Given the description of an element on the screen output the (x, y) to click on. 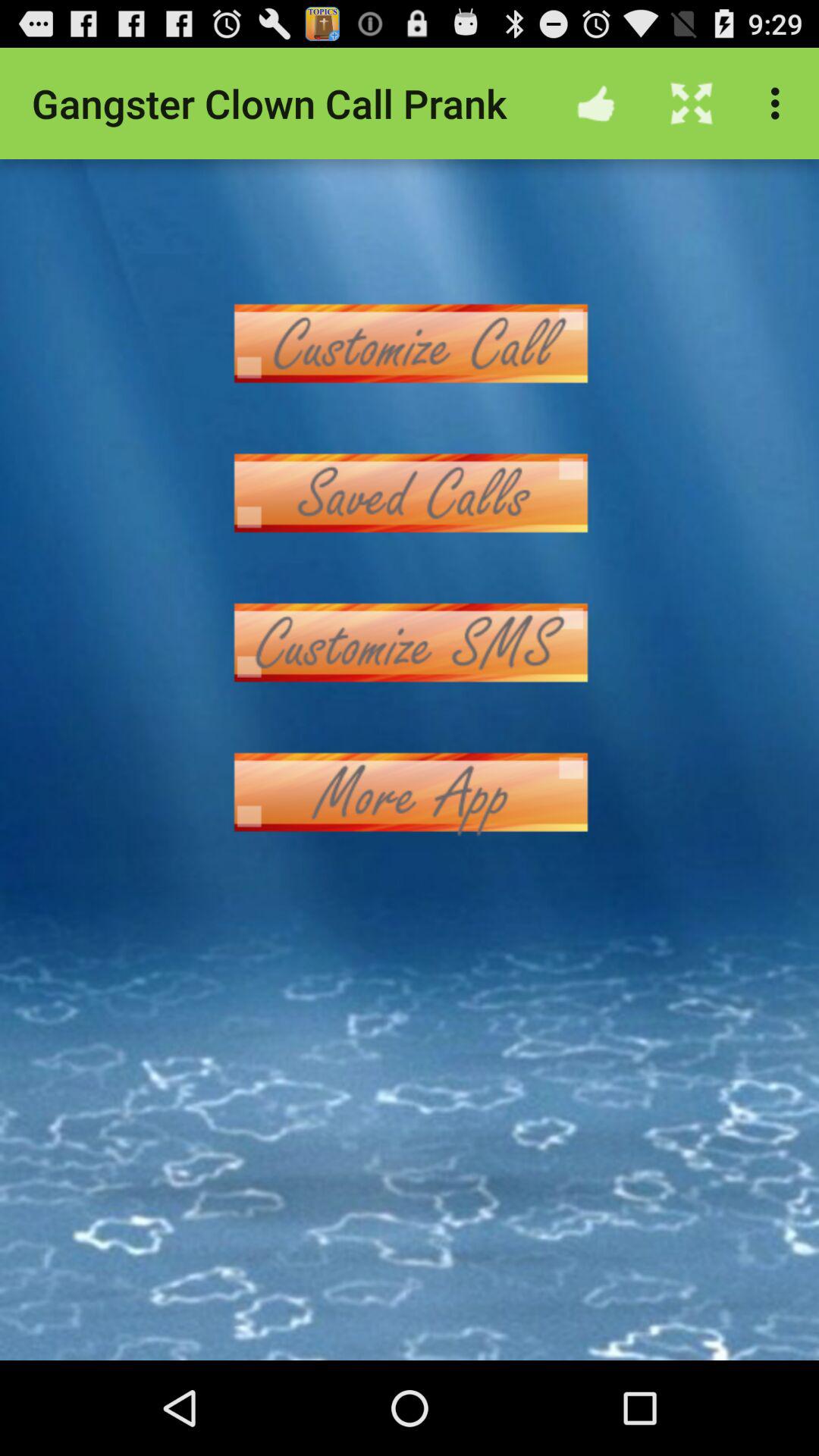
customize call option (409, 343)
